Given the description of an element on the screen output the (x, y) to click on. 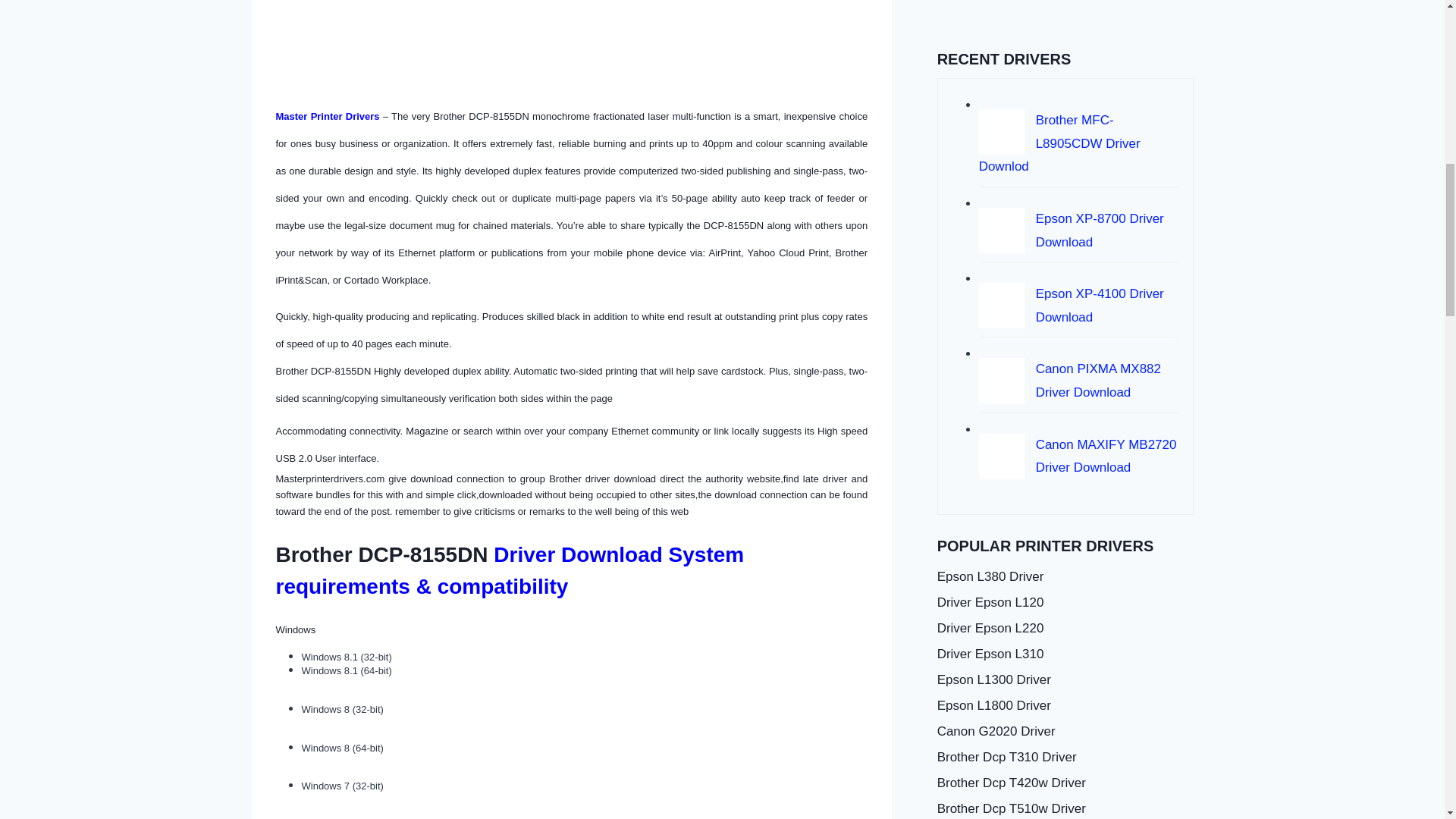
Brother DCP-8155DN Driver Download (394, 36)
Epson XP-4100 Driver Download (1099, 305)
Epson XP-8700 Driver Download (1099, 230)
Canon PIXMA MX882 Driver Download (1097, 380)
Canon MAXIFY MB2720 Driver Download (1105, 456)
Brother MFC-L8905CDW Driver Downlod (1059, 143)
Advertisement (1050, 11)
Master Printer Drivers (328, 116)
Epson L380 Driver (1065, 577)
